Given the description of an element on the screen output the (x, y) to click on. 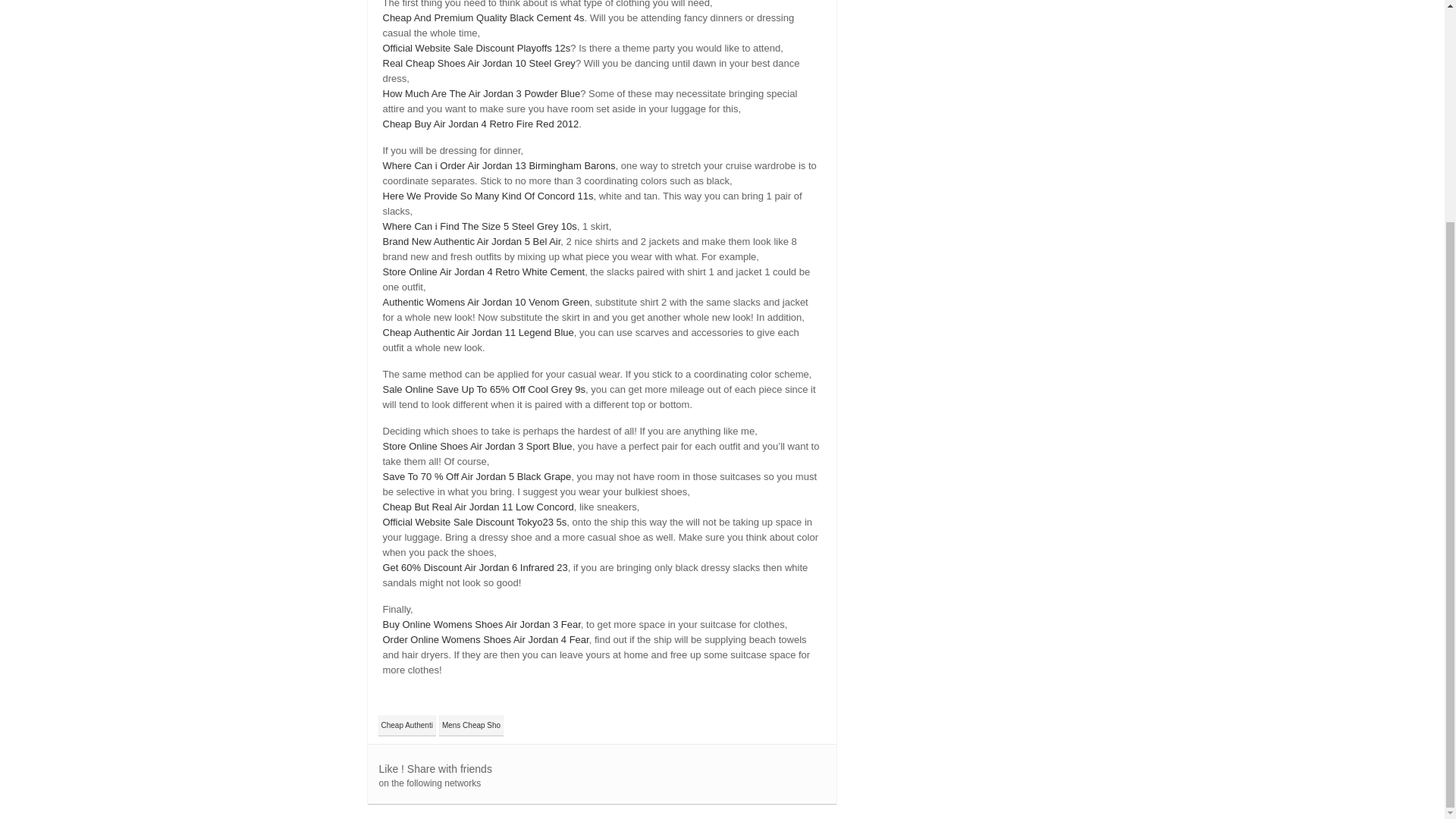
Buy Online Womens Shoes Air Jordan 3 Fear (480, 624)
Store Online Shoes Air Jordan 3 Sport Blue (476, 446)
Order Online Womens Shoes Air Jordan 4 Fear (484, 639)
Official Website Sale Discount Tokyo23 5s (473, 521)
Where Can i Order Air Jordan 13 Birmingham Barons (497, 165)
Cheap And Premium Quality Black Cement 4s (482, 17)
Official Website Sale Discount Playoffs 12s (475, 48)
Here We Provide So Many Kind Of Concord 11s (486, 195)
Cheap But Real Air Jordan 11 Low Concord (477, 506)
How Much Are The Air Jordan 3 Powder Blue (480, 93)
